Given the description of an element on the screen output the (x, y) to click on. 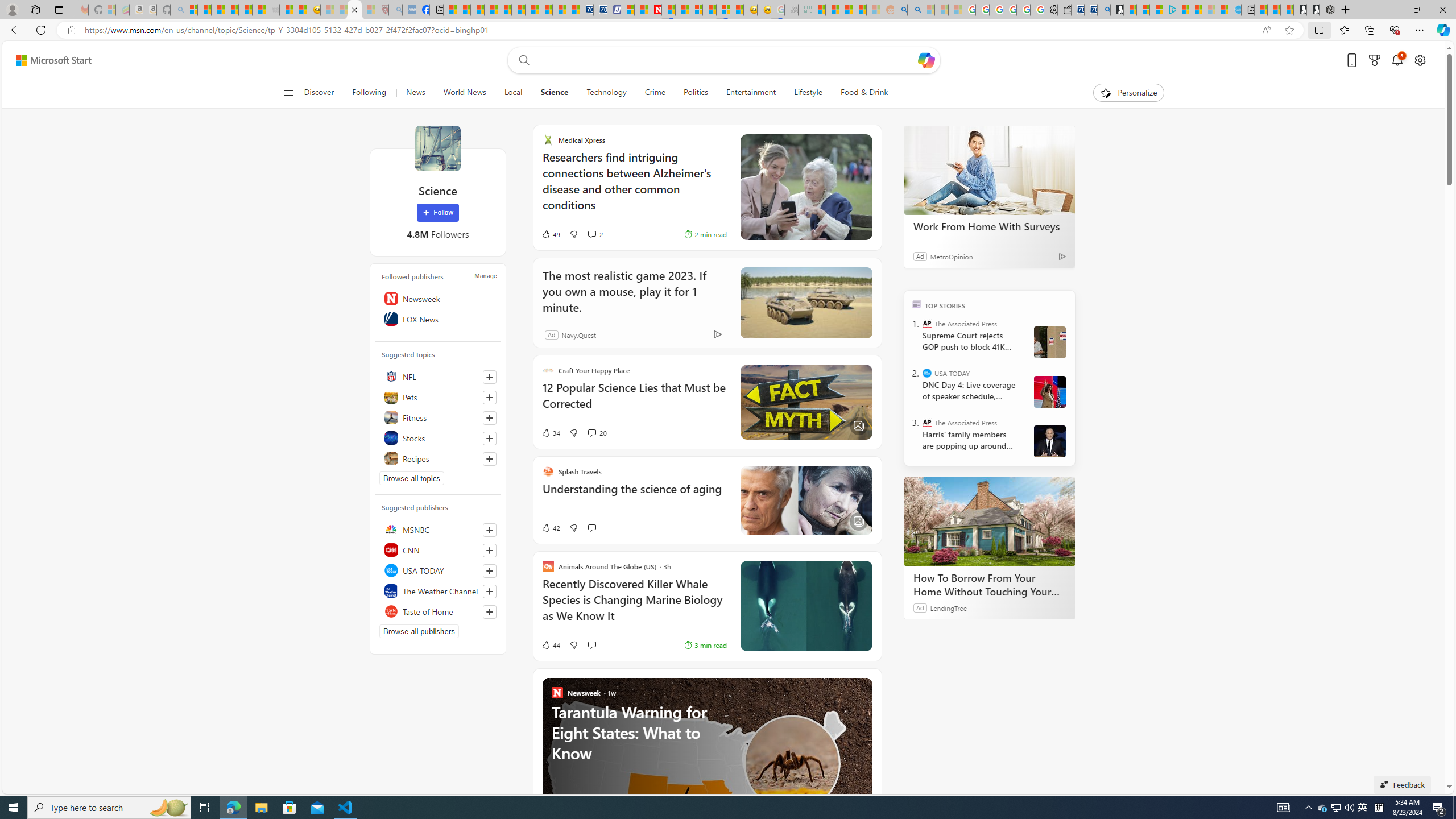
Combat Siege - Sleeping (271, 9)
Cheap Hotels - Save70.com (599, 9)
The Weather Channel - MSN (218, 9)
